Given the description of an element on the screen output the (x, y) to click on. 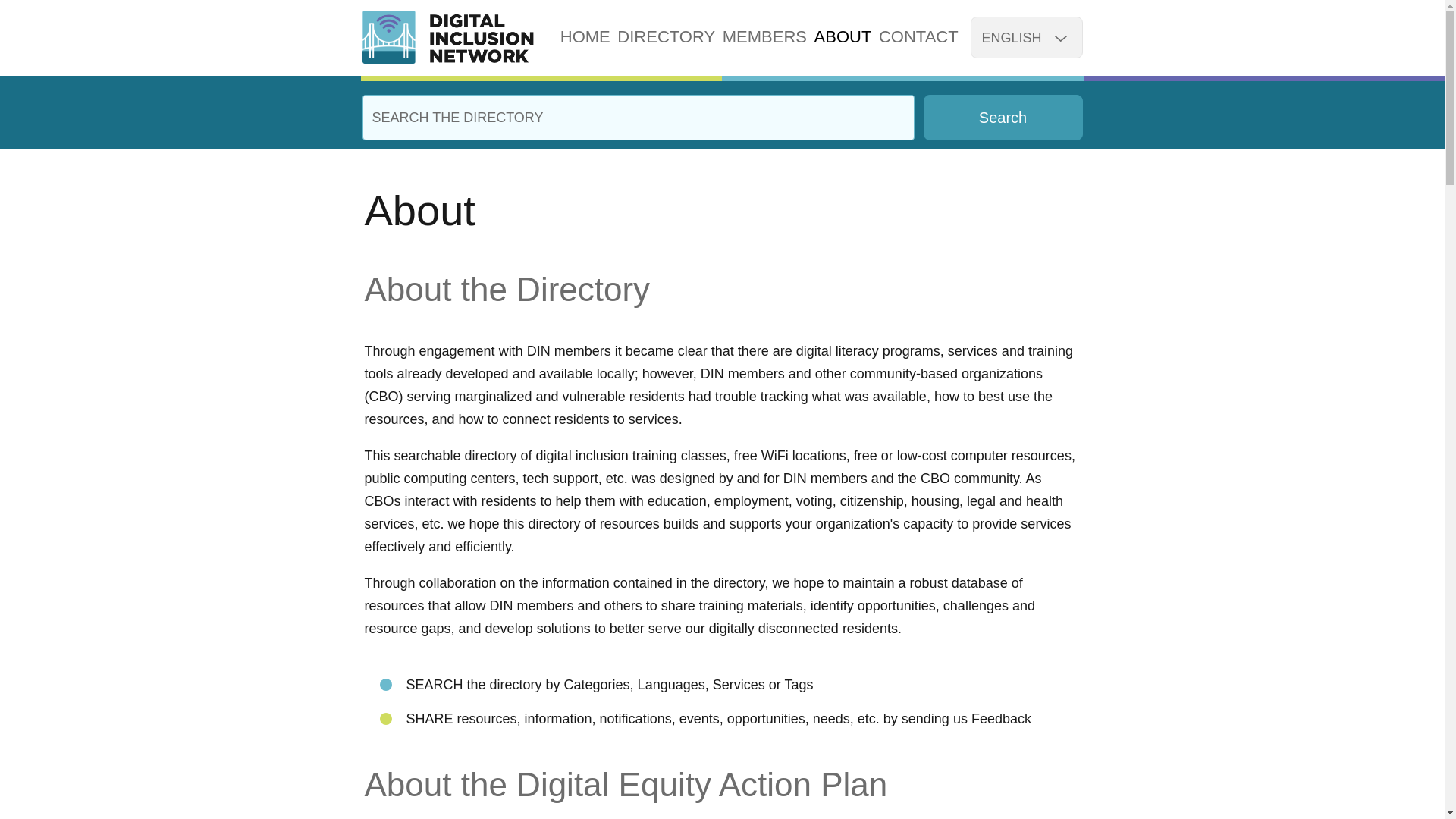
Search (1003, 117)
Home (448, 36)
Search (1003, 117)
HOME (585, 37)
CONTACT (918, 37)
MEMBERS (764, 37)
ABOUT (842, 37)
DIRECTORY (665, 37)
ENGLISH (1026, 37)
